Given the description of an element on the screen output the (x, y) to click on. 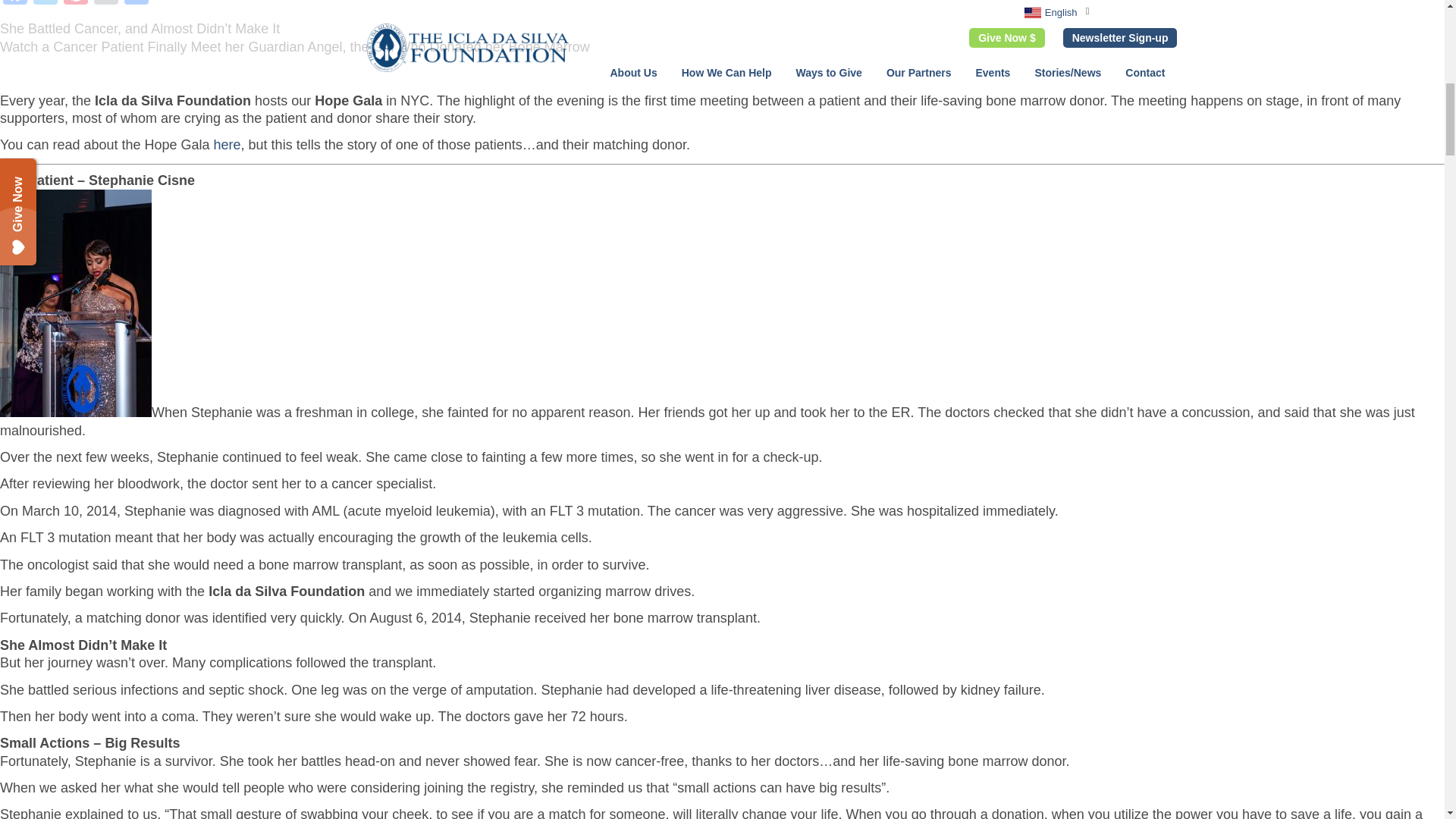
Facebook (15, 4)
Twitter (45, 4)
Pinterest (75, 4)
Email (105, 4)
